Given the description of an element on the screen output the (x, y) to click on. 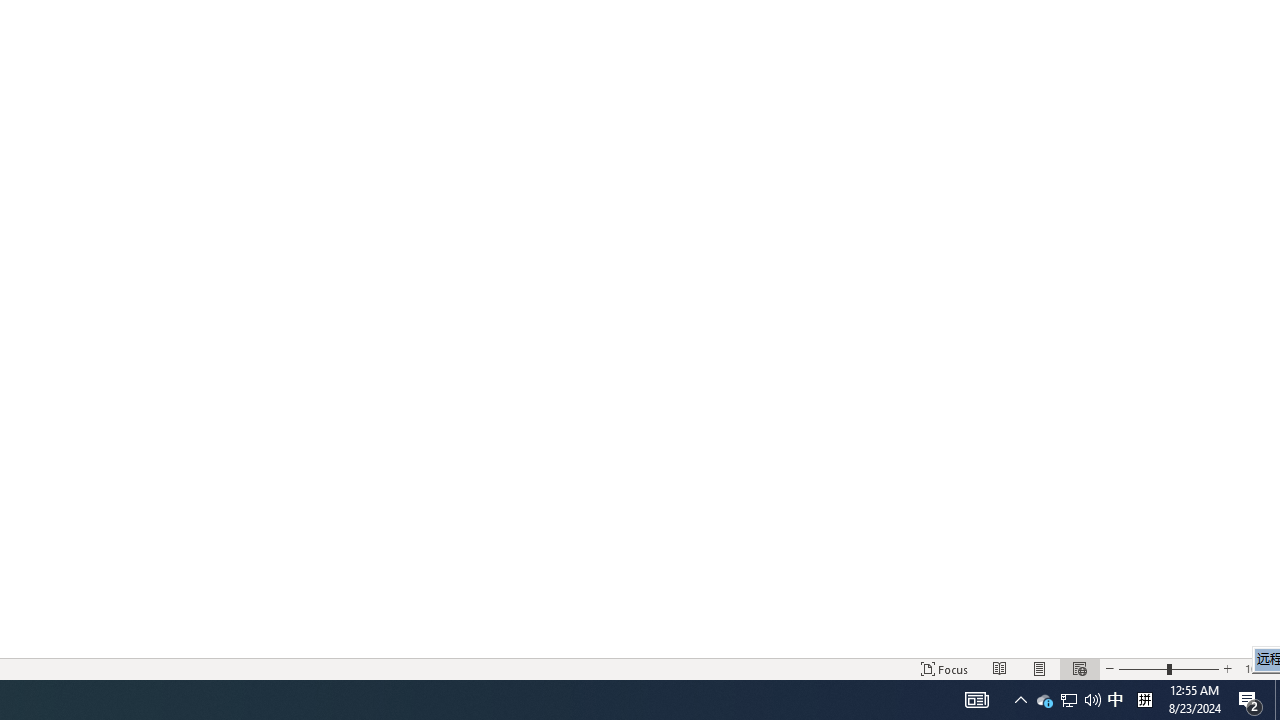
Zoom 100% (1258, 668)
